Given the description of an element on the screen output the (x, y) to click on. 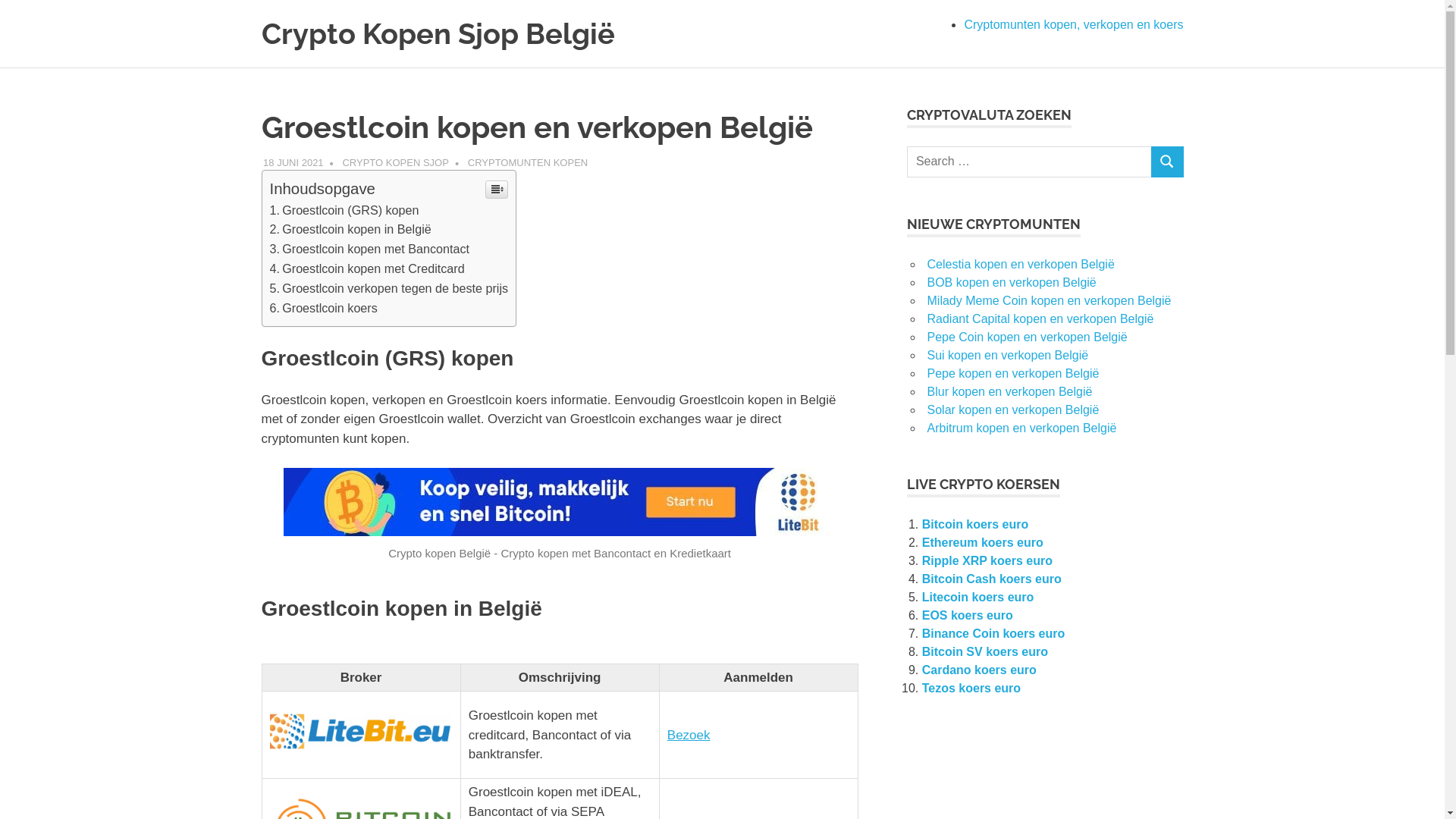
Groestlcoin koers Element type: text (323, 307)
CRYPTO KOPEN SJOP Element type: text (395, 161)
Bitcoin koers euro Element type: text (975, 523)
Bitcoin Cash koers euro Element type: text (991, 578)
Groestlcoin kopen met Creditcard Element type: text (366, 268)
Tezos koers euro Element type: text (971, 687)
Ripple XRP koers euro Element type: text (987, 560)
Cardano koers euro Element type: text (979, 669)
Bitcoin SV koers euro Element type: text (985, 651)
Groestlcoin verkopen tegen de beste prijs Element type: text (388, 287)
Search for: Element type: hover (1028, 161)
Groestlcoin (GRS) kopen Element type: text (344, 209)
Cryptomunten kopen, verkopen en koers Element type: text (1073, 24)
EOS koers euro Element type: text (967, 614)
Ethereum koers euro Element type: text (982, 542)
CRYPTOMUNTEN KOPEN Element type: text (527, 161)
Bezoek Element type: text (688, 735)
Litecoin koers euro Element type: text (978, 596)
Groestlcoin kopen met Bancontact Element type: text (369, 248)
Binance Coin koers euro Element type: text (993, 633)
18 JUNI 2021 Element type: text (293, 161)
